Given the description of an element on the screen output the (x, y) to click on. 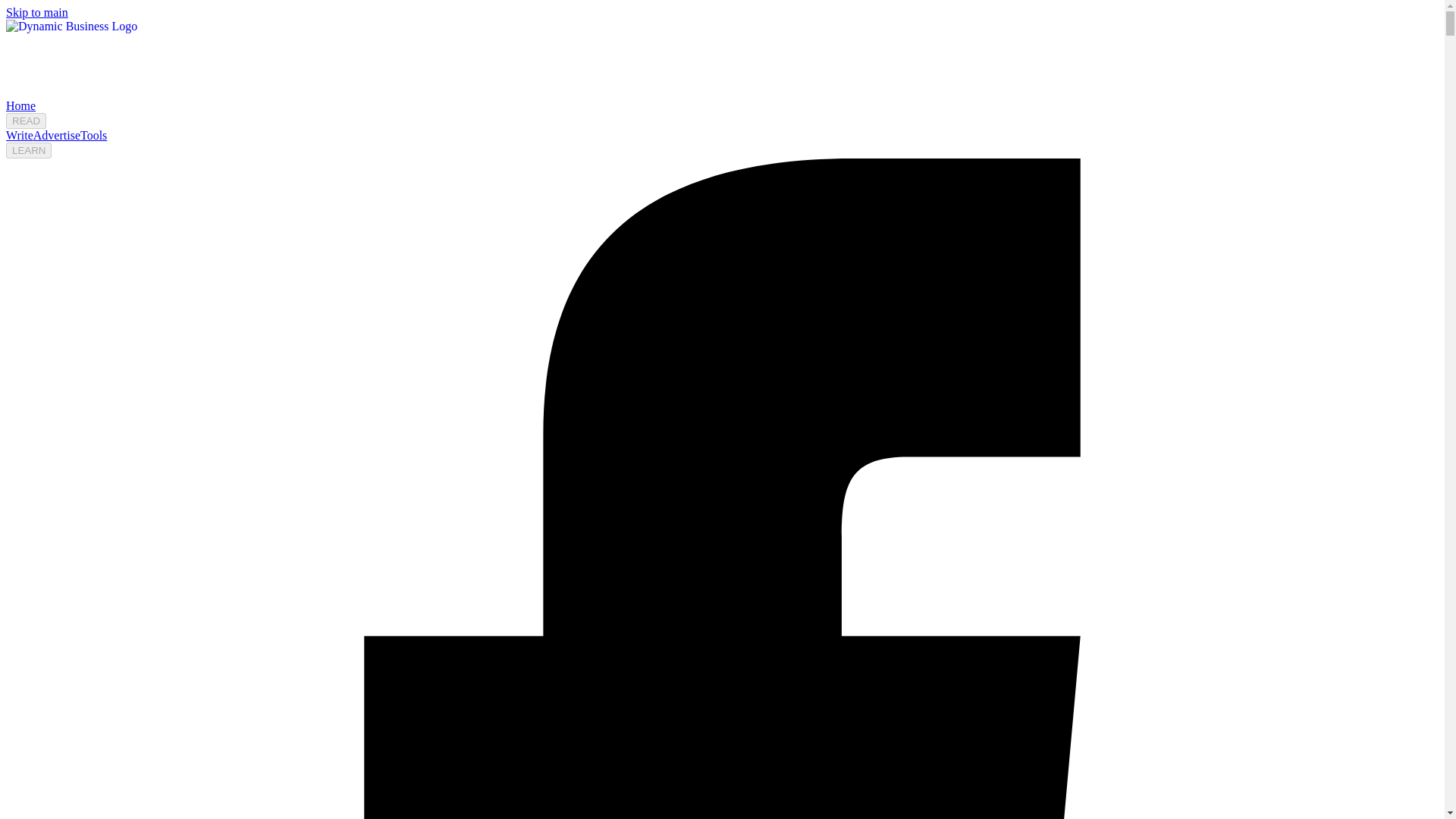
Skip to main (36, 11)
Write (19, 134)
LEARN (27, 150)
READ (25, 120)
Tools (93, 134)
Advertise (56, 134)
Home (19, 105)
